Given the description of an element on the screen output the (x, y) to click on. 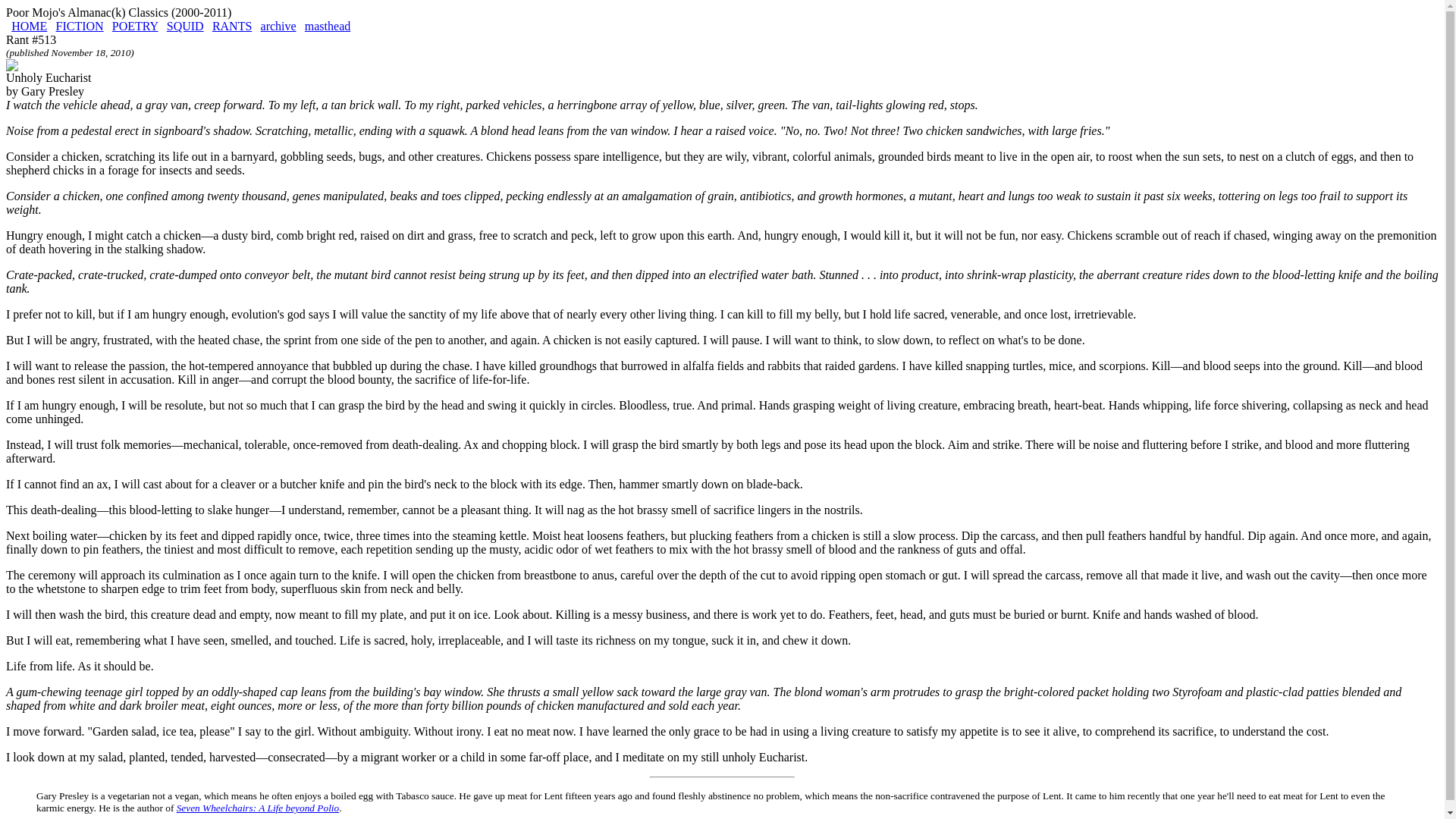
SQUID (185, 25)
POETRY (135, 25)
Seven Wheelchairs: A Life beyond Polio (257, 808)
FICTION (79, 25)
archive (278, 25)
masthead (327, 25)
HOME (28, 25)
RANTS (231, 25)
